Given the description of an element on the screen output the (x, y) to click on. 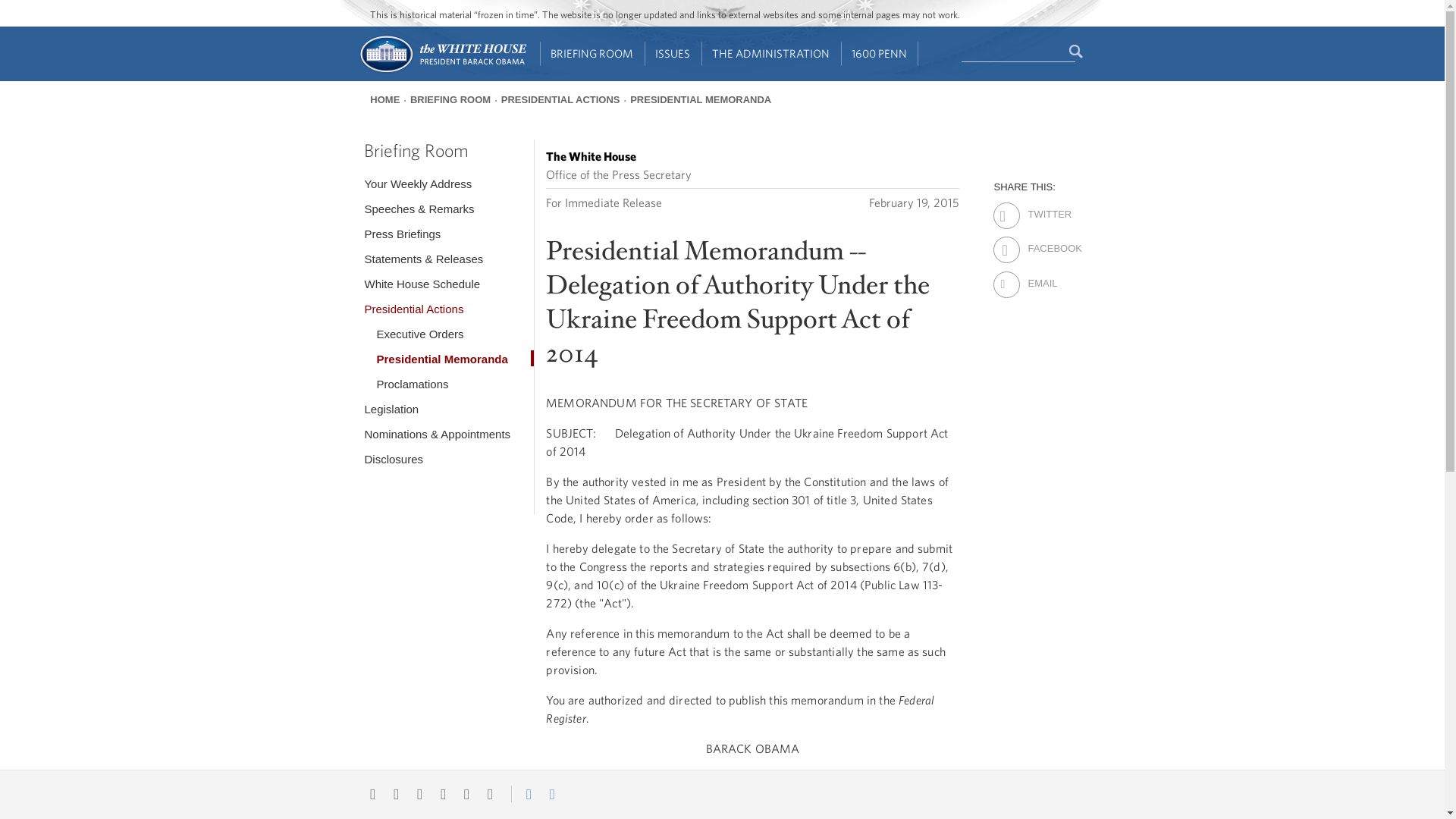
Email (1040, 273)
Facebook (1040, 238)
Search (1076, 51)
Home (441, 70)
Contact the Whitehouse. (521, 793)
Enter the terms you wish to search for. (1017, 52)
Twitter (1040, 204)
BRIEFING ROOM (592, 53)
ISSUES (673, 53)
